Given the description of an element on the screen output the (x, y) to click on. 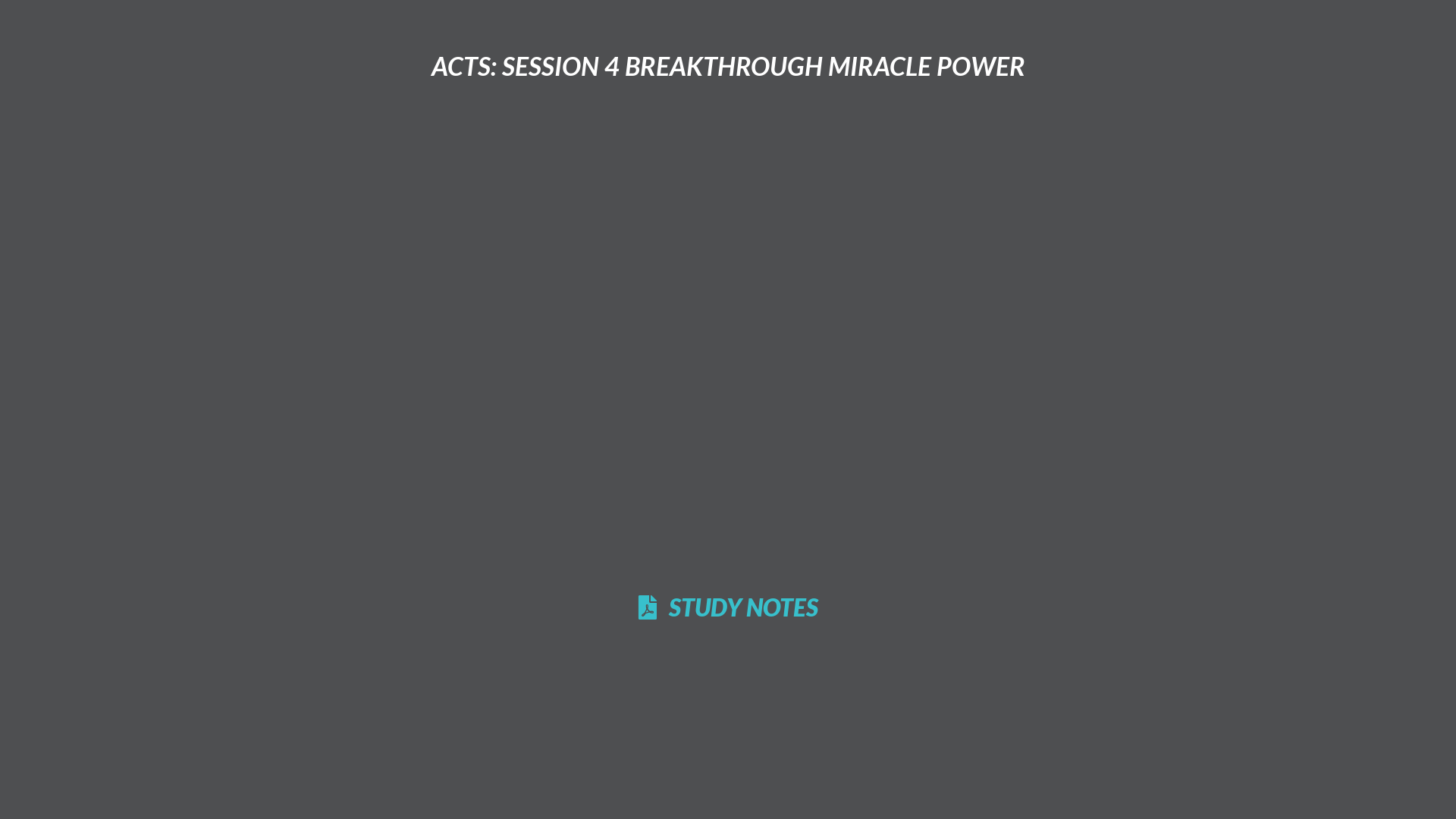
STUDY NOTES Element type: text (728, 607)
